Given the description of an element on the screen output the (x, y) to click on. 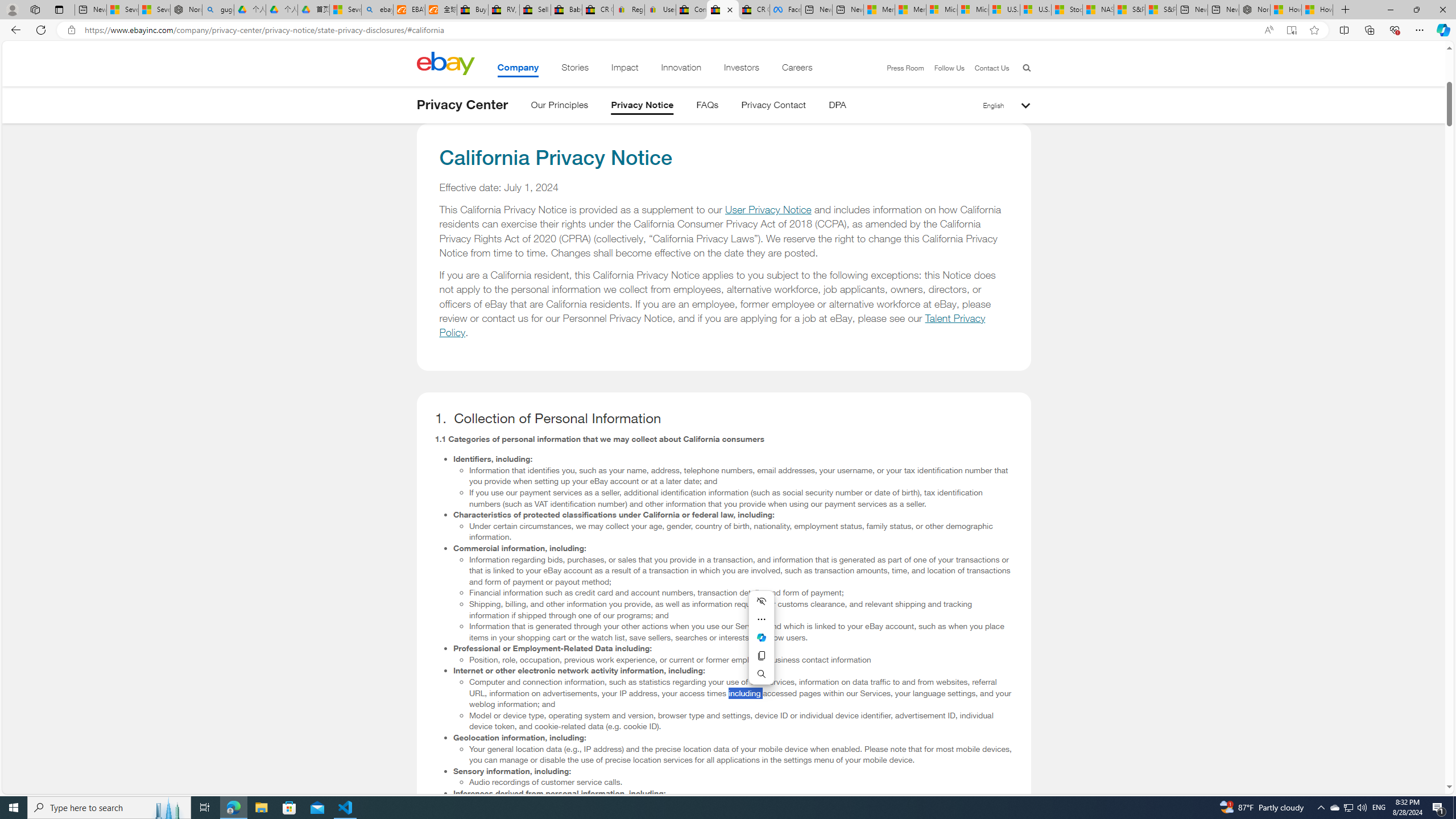
User Privacy Notice | eBay (660, 9)
How to Use a Monitor With Your Closed Laptop (1317, 9)
Ask Copilot (761, 637)
